Given the description of an element on the screen output the (x, y) to click on. 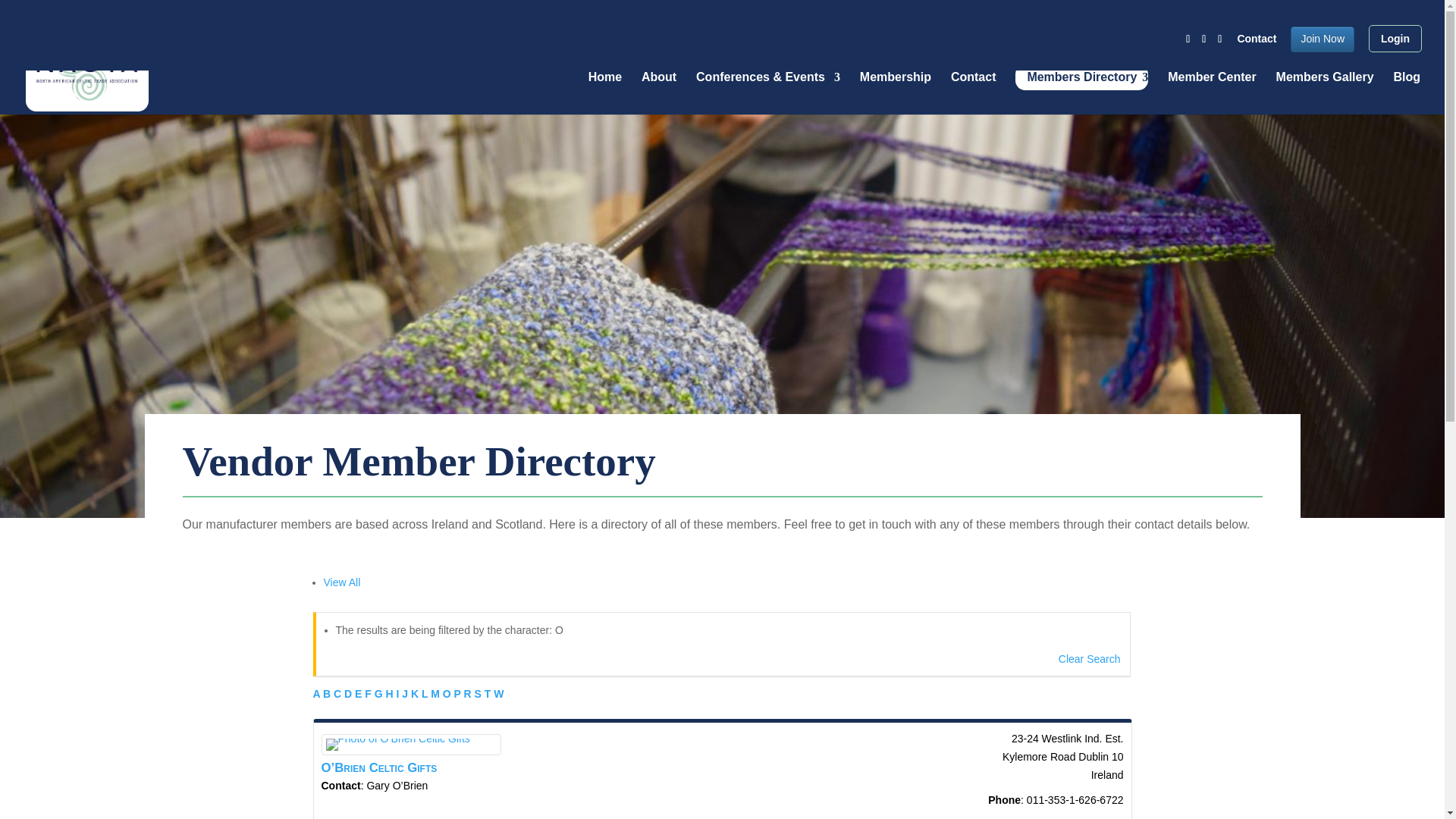
Members Directory (1081, 77)
Contact (1256, 42)
Contact (972, 91)
Clear Search (1089, 657)
Members Gallery (1325, 91)
Login (1395, 39)
Member Center (1211, 91)
Membership (895, 91)
Join Now (1322, 39)
View All (341, 582)
